Given the description of an element on the screen output the (x, y) to click on. 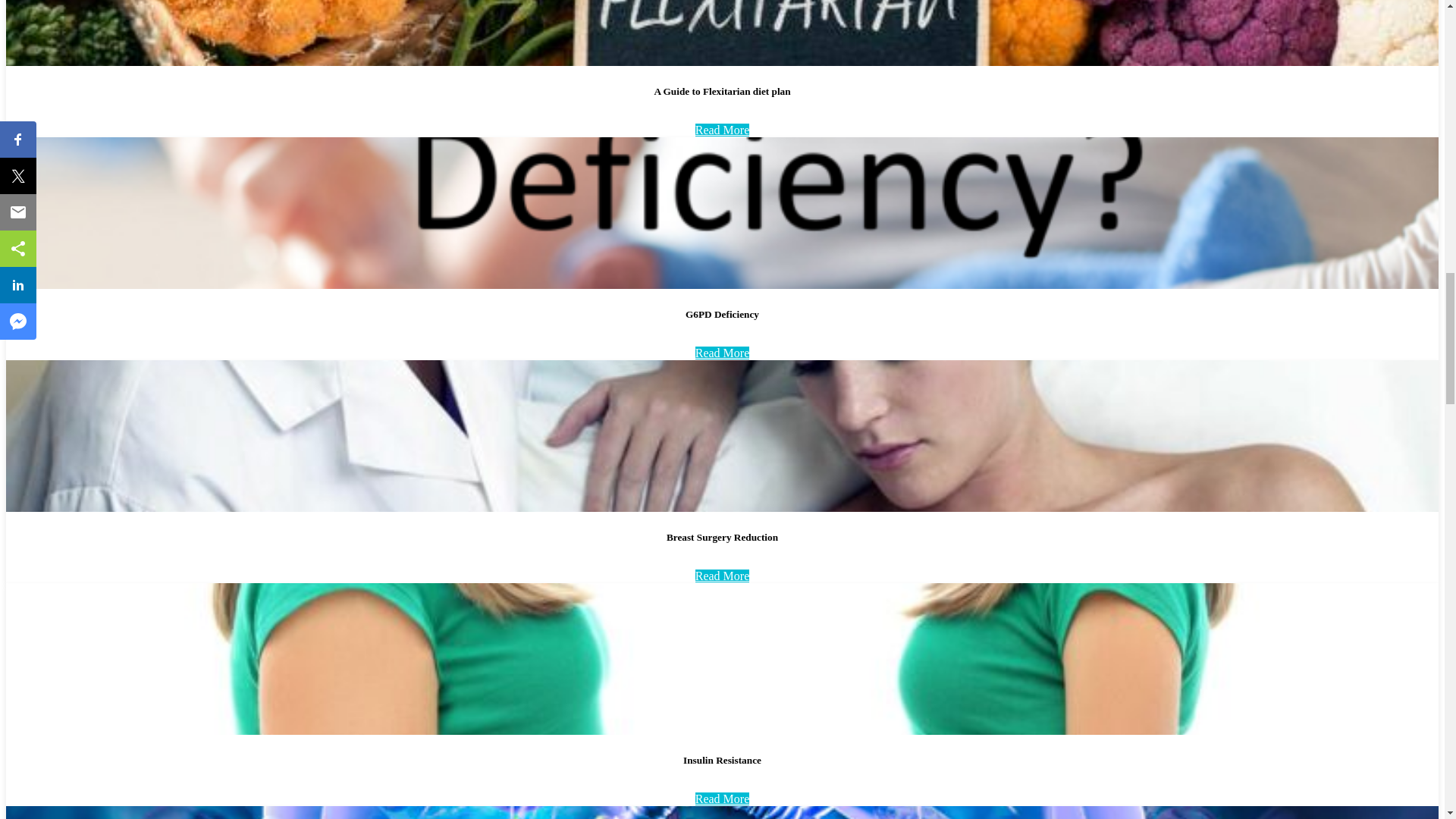
Read More (722, 352)
Read More (722, 575)
Read More (722, 798)
Read More (722, 129)
